Given the description of an element on the screen output the (x, y) to click on. 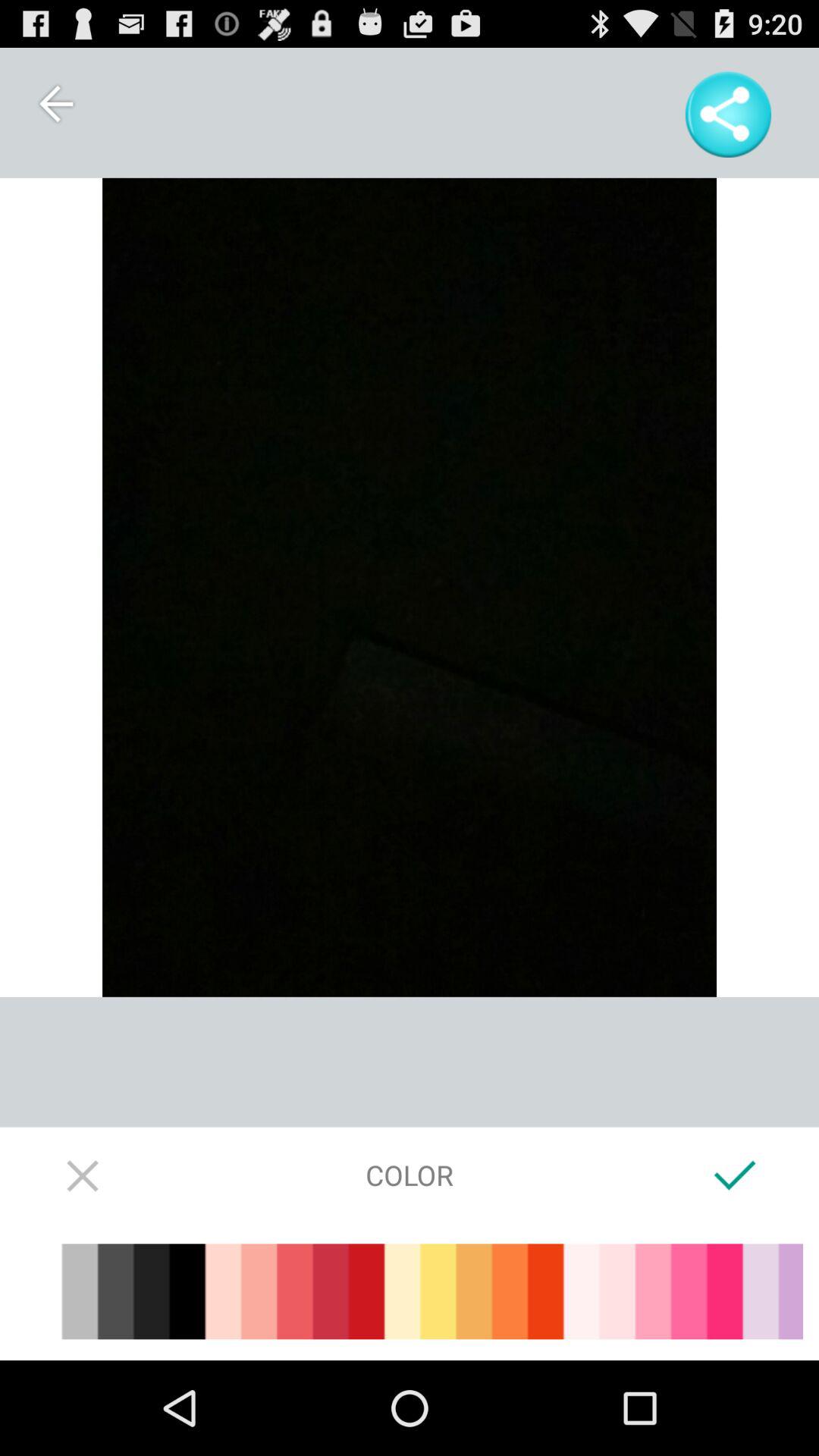
accept color chosen (735, 1174)
